Given the description of an element on the screen output the (x, y) to click on. 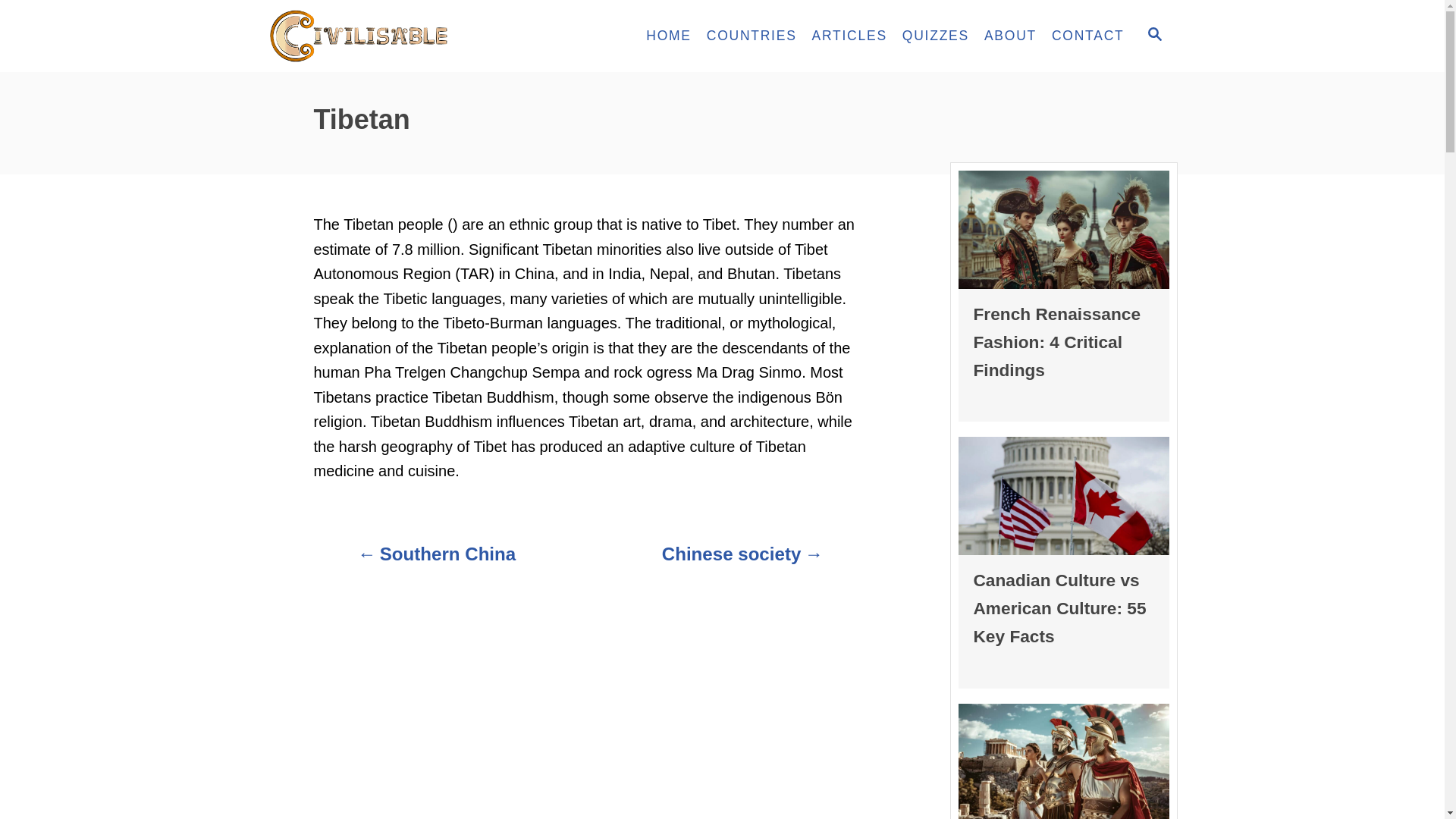
Southern China (437, 561)
CONTACT (1087, 36)
Canadian Culture vs American Culture: 55 Key Facts (1060, 608)
Civilisable (403, 36)
ABOUT (1009, 36)
COUNTRIES (751, 36)
QUIZZES (935, 36)
SEARCH (1153, 35)
Chinese society (741, 561)
ARTICLES (850, 36)
French Renaissance Fashion: 4 Critical Findings (1057, 341)
HOME (668, 36)
